Given the description of an element on the screen output the (x, y) to click on. 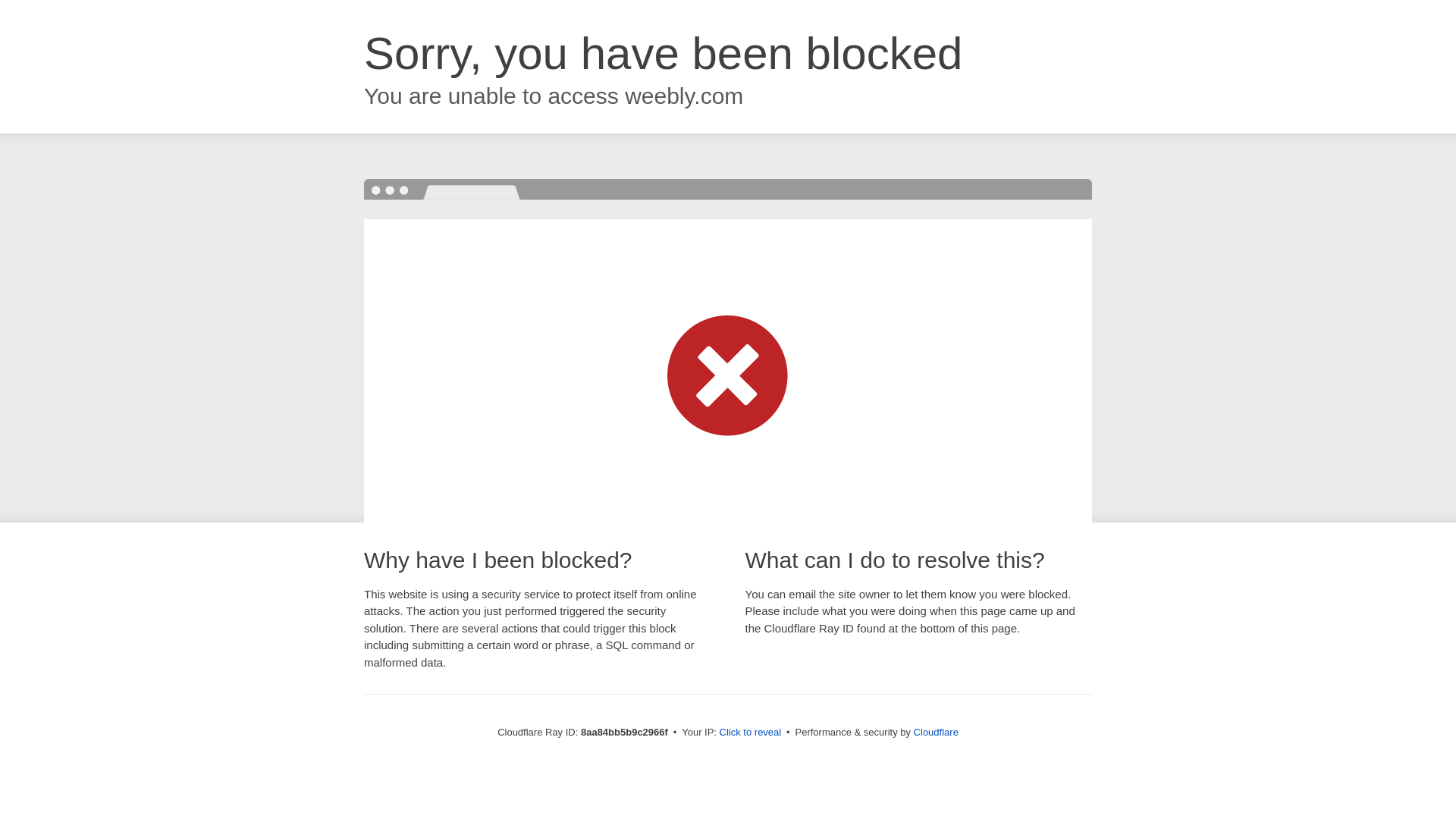
Click to reveal (750, 732)
Cloudflare (936, 731)
